Given the description of an element on the screen output the (x, y) to click on. 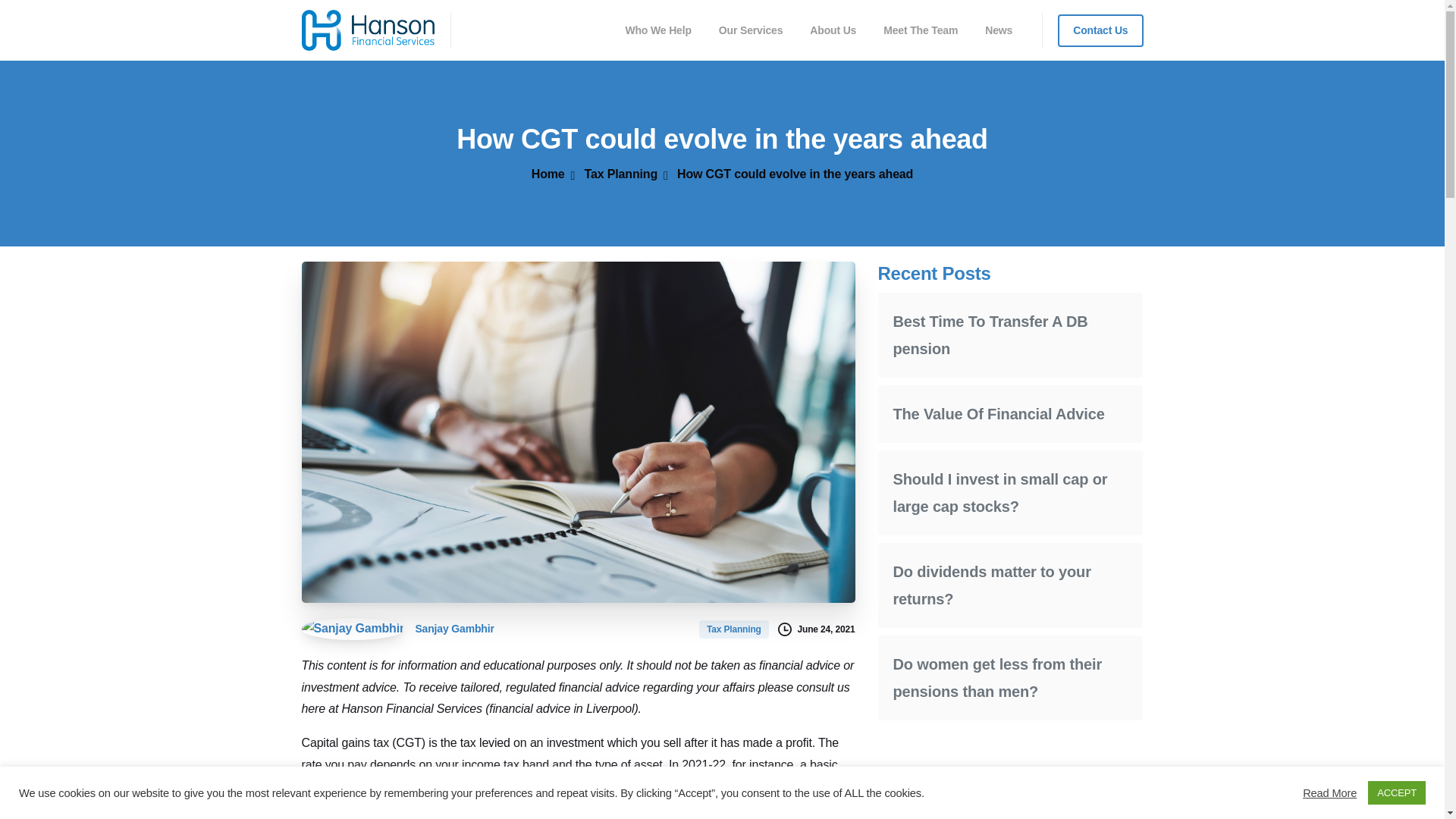
Do dividends matter to your returns? (991, 585)
Home (547, 173)
Should I invest in small cap or large cap stocks? (1000, 492)
Our Services (751, 30)
News (997, 30)
Sanjay Gambhir (398, 627)
Tax Planning (734, 627)
Best Time To Transfer A DB pension (990, 334)
About Us (832, 30)
Who We Help (657, 30)
Do women get less from their pensions than men? (997, 678)
Meet The Team (920, 30)
Our Services (751, 30)
June 24, 2021 (816, 628)
Financial Planning (929, 808)
